Given the description of an element on the screen output the (x, y) to click on. 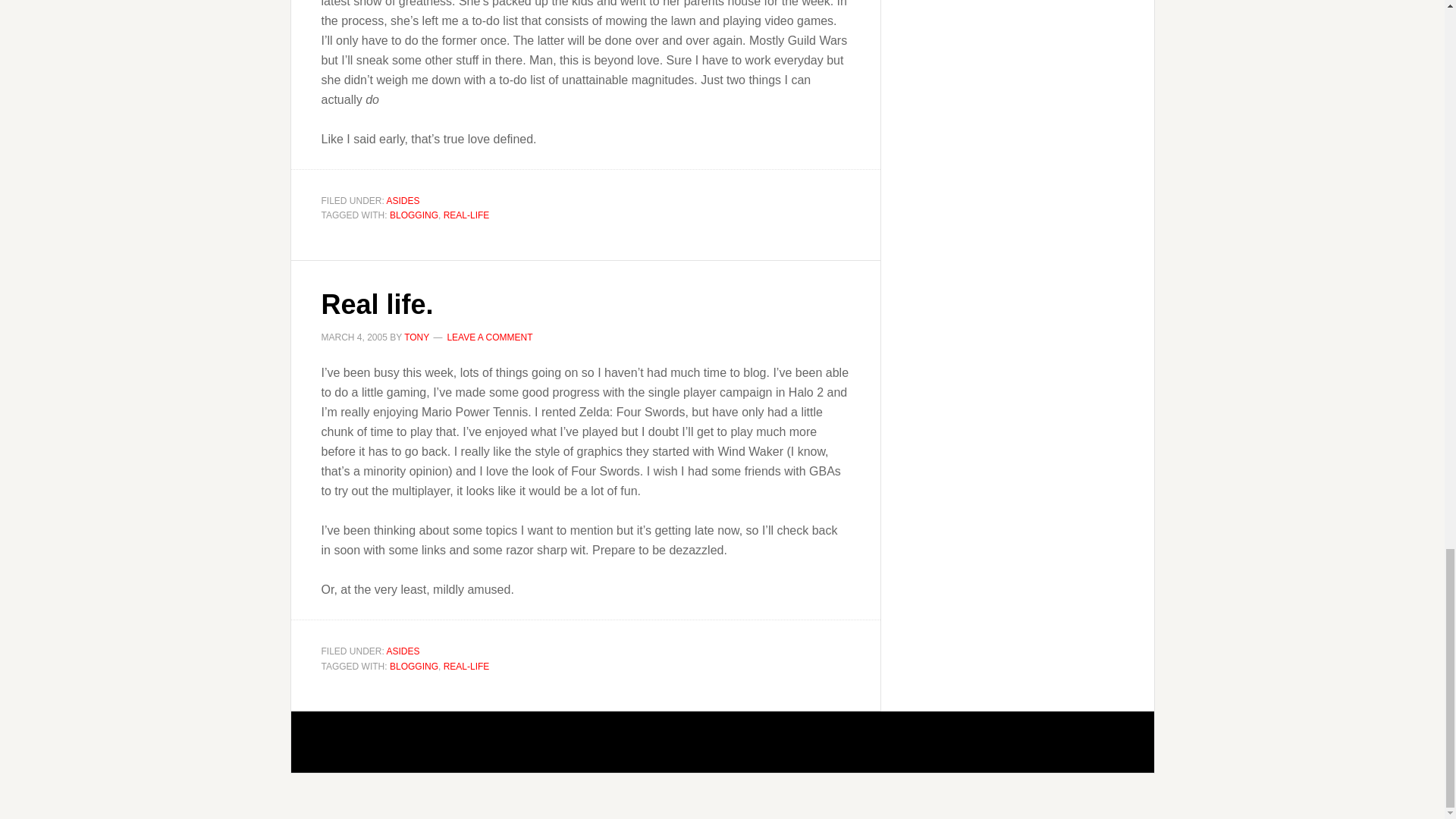
TONY (416, 337)
LEAVE A COMMENT (489, 337)
ASIDES (403, 200)
BLOGGING (414, 214)
Real life. (377, 303)
REAL-LIFE (466, 214)
ASIDES (403, 651)
